Given the description of an element on the screen output the (x, y) to click on. 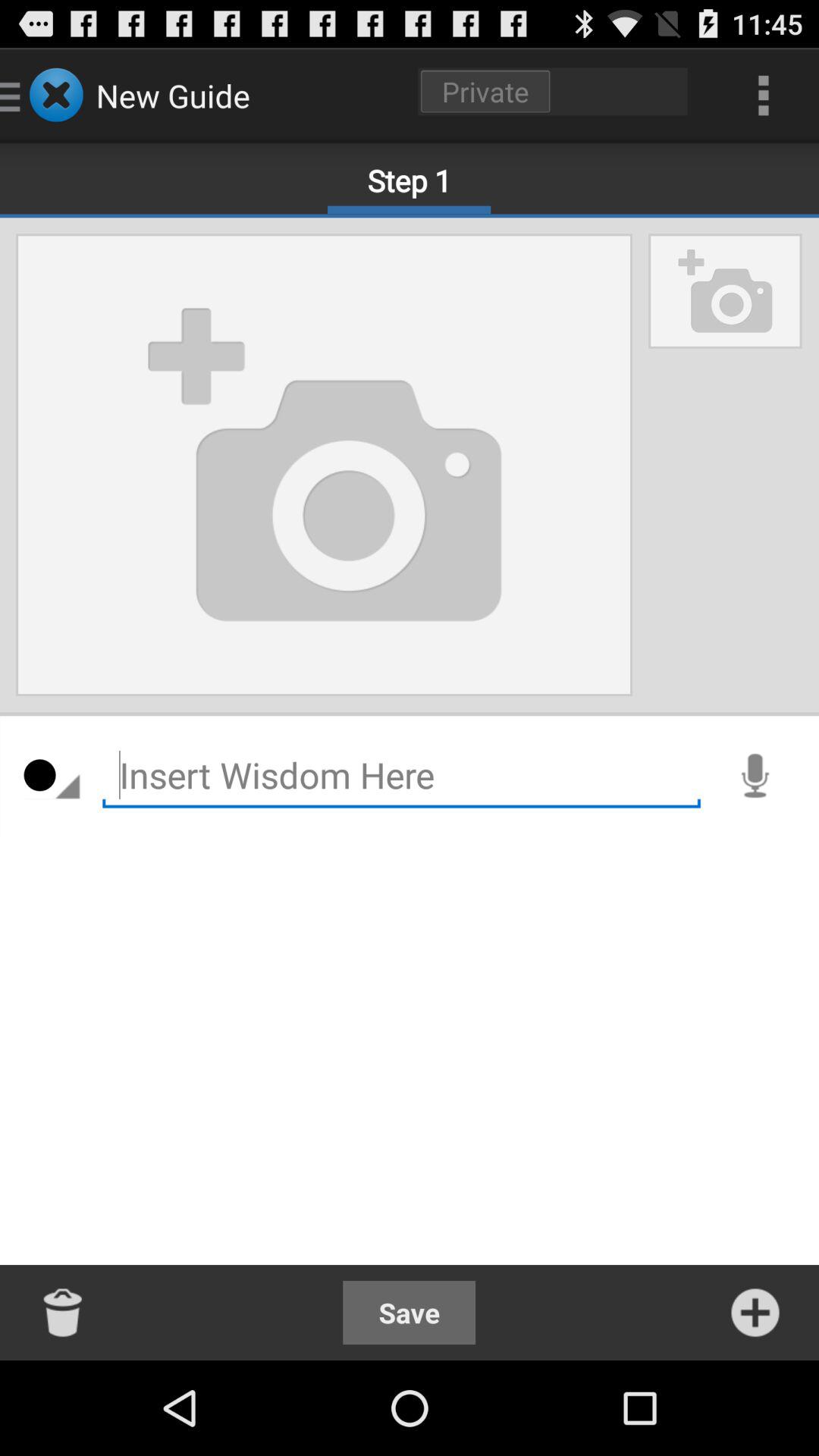
click icon at the bottom right corner (755, 1312)
